Given the description of an element on the screen output the (x, y) to click on. 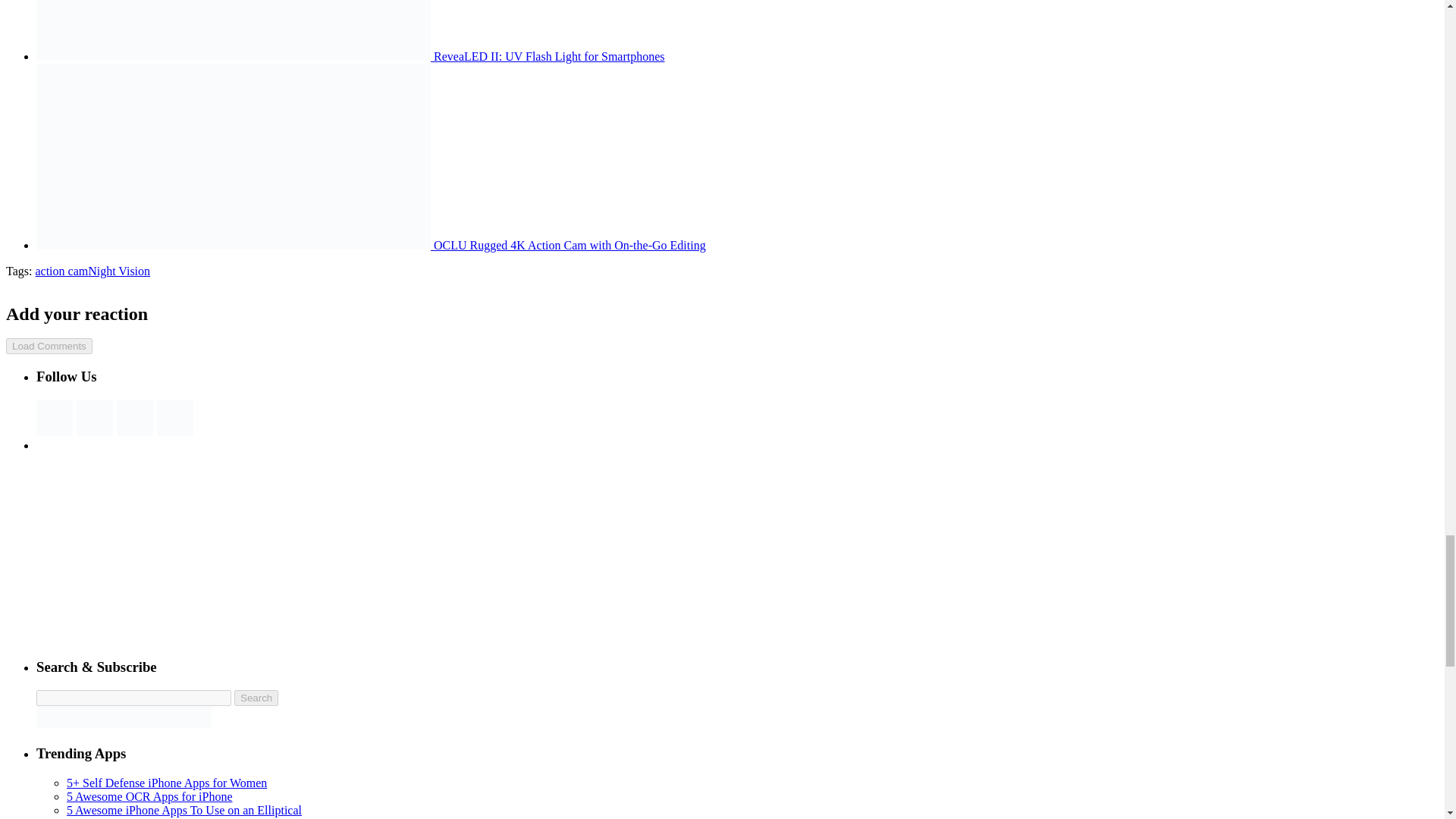
Search (256, 697)
